Given the description of an element on the screen output the (x, y) to click on. 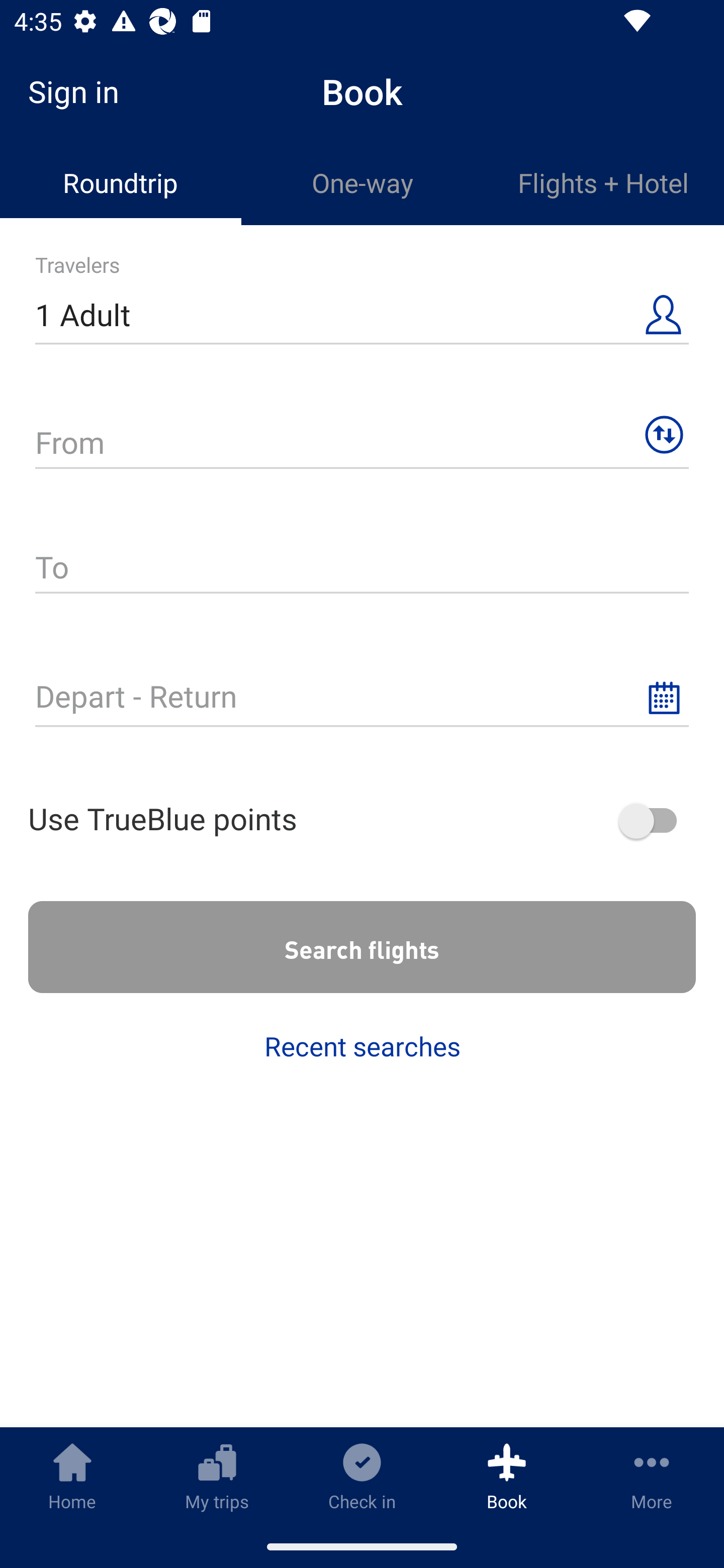
Sign in (80, 91)
One-way (361, 183)
Flights + Hotel (603, 183)
1 Adult (361, 315)
From (361, 444)
Swap origin and destination (663, 434)
To (361, 568)
Depart - Return (361, 697)
Search flights (361, 946)
Recent searches (361, 1046)
Home (72, 1475)
My trips (216, 1475)
Check in (361, 1475)
More (651, 1475)
